Given the description of an element on the screen output the (x, y) to click on. 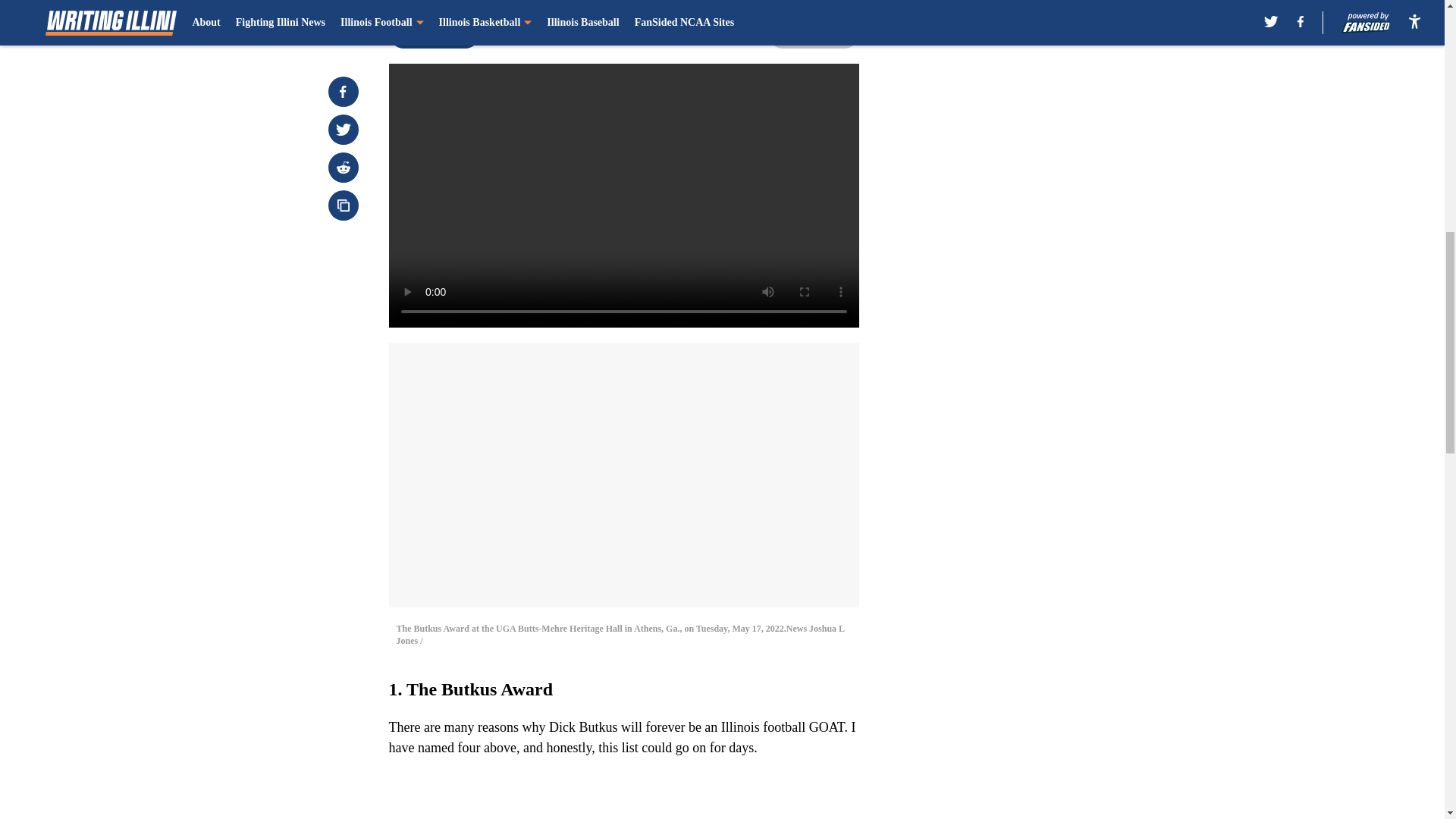
Prev (433, 33)
Next (813, 33)
3rd party ad content (1047, 113)
3rd party ad content (1047, 332)
